Given the description of an element on the screen output the (x, y) to click on. 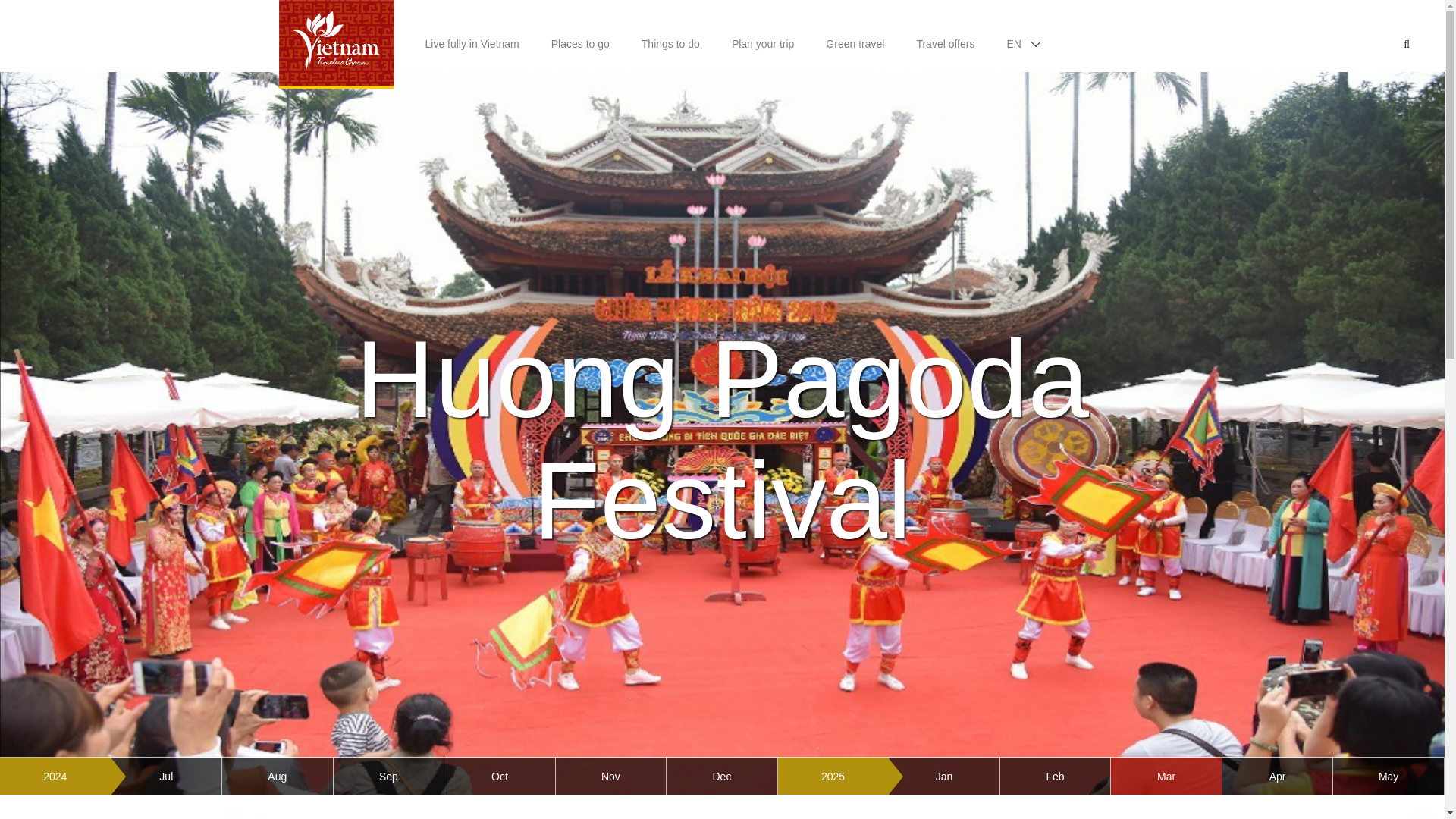
Live fully in Vietnam (472, 36)
Places to go (580, 36)
Things to do (671, 36)
